Given the description of an element on the screen output the (x, y) to click on. 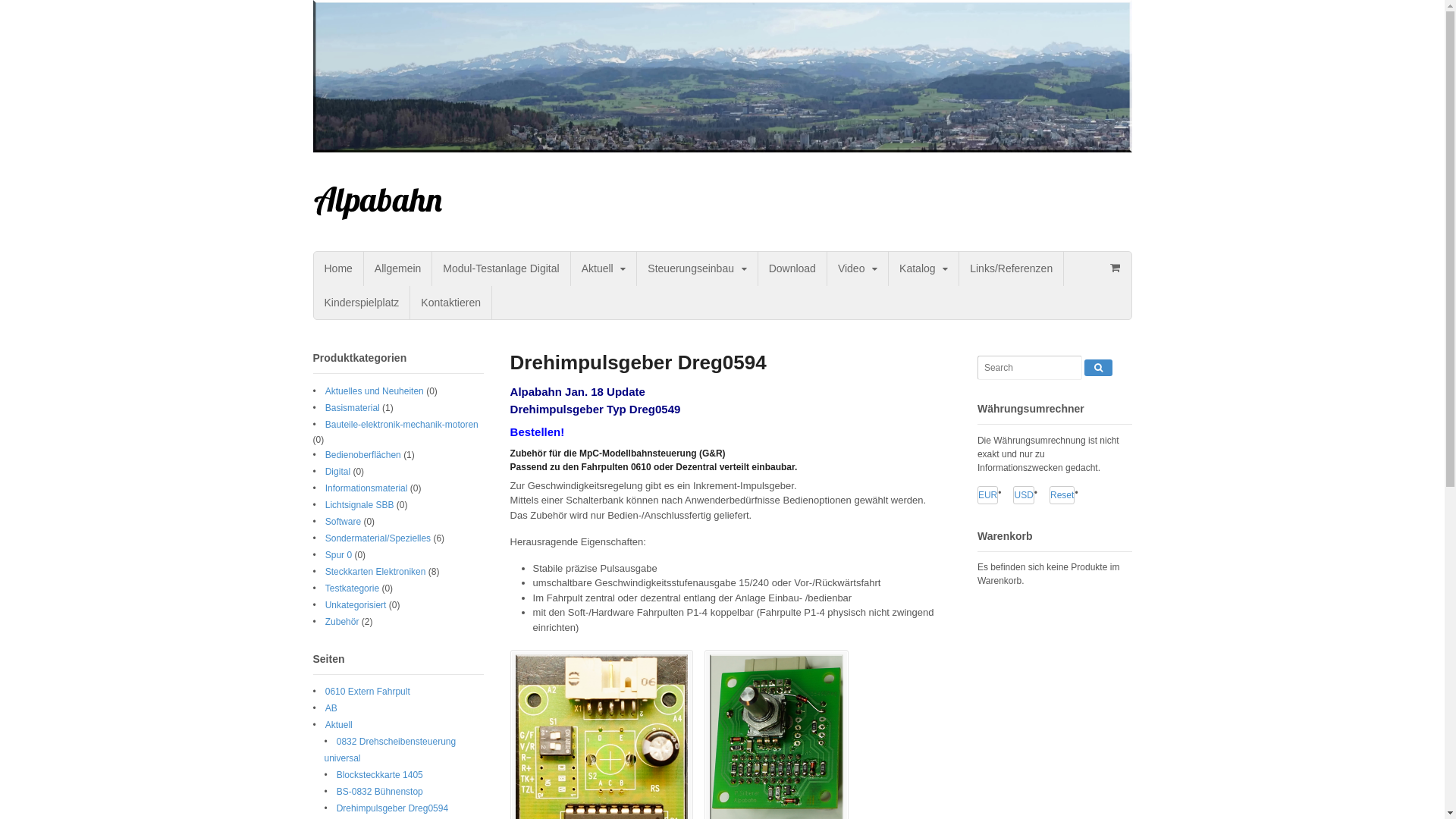
Aktuell Element type: text (604, 268)
Testkategorie Element type: text (352, 588)
Reset Element type: text (1061, 495)
Kontaktieren Element type: text (450, 302)
Drehimpulsgeber Dreg0594 Element type: text (392, 808)
Lichtsignale SBB Element type: text (359, 504)
Modul-Testanlage Digital Element type: text (500, 268)
banner_2 Element type: hover (721, 76)
Search Element type: text (1098, 367)
View your shopping cart Element type: hover (1115, 267)
Blocksteckkarte 1405 Element type: text (379, 774)
Katalog Element type: text (923, 268)
Video Element type: text (857, 268)
Basismaterial Element type: text (352, 407)
Alpabahn Jan. 18 Update
Drehimpulsgeber Typ Dreg0549 Element type: text (595, 400)
USD Element type: text (1023, 495)
Allgemein Element type: text (397, 268)
Informationsmaterial Element type: text (366, 488)
Steckkarten Elektroniken Element type: text (375, 571)
AB Element type: text (331, 707)
Unkategorisiert Element type: text (355, 604)
Kinderspielplatz Element type: text (361, 302)
Software Element type: text (342, 521)
Aktuelles und Neuheiten Element type: text (374, 390)
0610 Extern Fahrpult Element type: text (367, 691)
EUR Element type: text (987, 495)
0832 Drehscheibensteuerung universal Element type: text (390, 749)
Digital Element type: text (337, 471)
Download Element type: text (792, 268)
Bauteile-elektronik-mechanik-motoren Element type: text (401, 424)
Spur 0 Element type: text (338, 554)
Aktuell Element type: text (338, 724)
Sondermaterial/Spezielles Element type: text (377, 538)
Steuerungseinbau Element type: text (696, 268)
Links/Referenzen Element type: text (1011, 268)
Bestellen! Element type: text (537, 430)
Home Element type: text (338, 268)
